Given the description of an element on the screen output the (x, y) to click on. 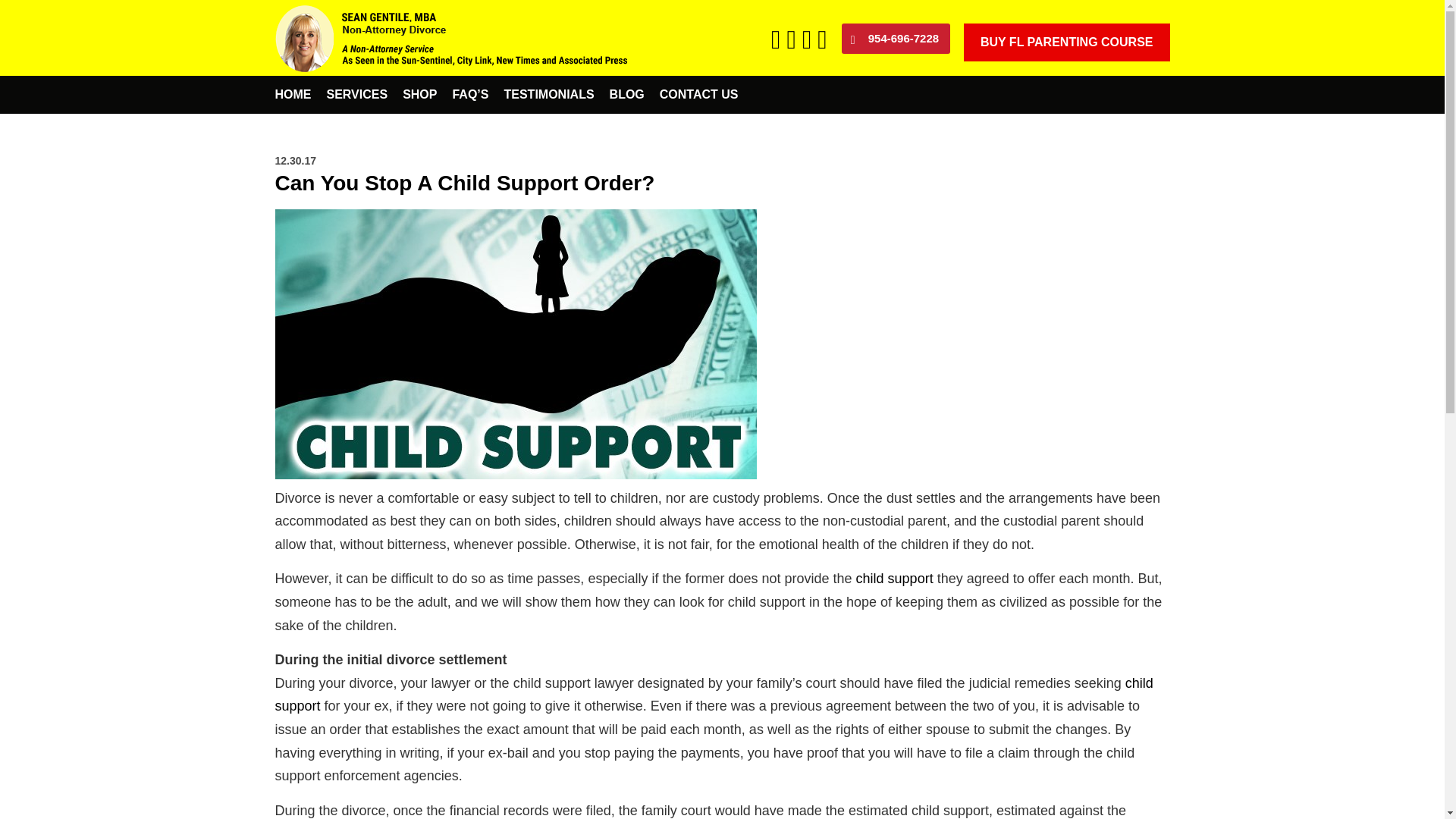
SERVICES (356, 93)
SHOP (419, 93)
child support (894, 578)
CONTACT US (698, 93)
HOME (292, 93)
BUY FL PARENTING COURSE (1066, 42)
child support (714, 694)
TESTIMONIALS (548, 93)
BLOG (627, 93)
954-696-7228 (895, 38)
